Given the description of an element on the screen output the (x, y) to click on. 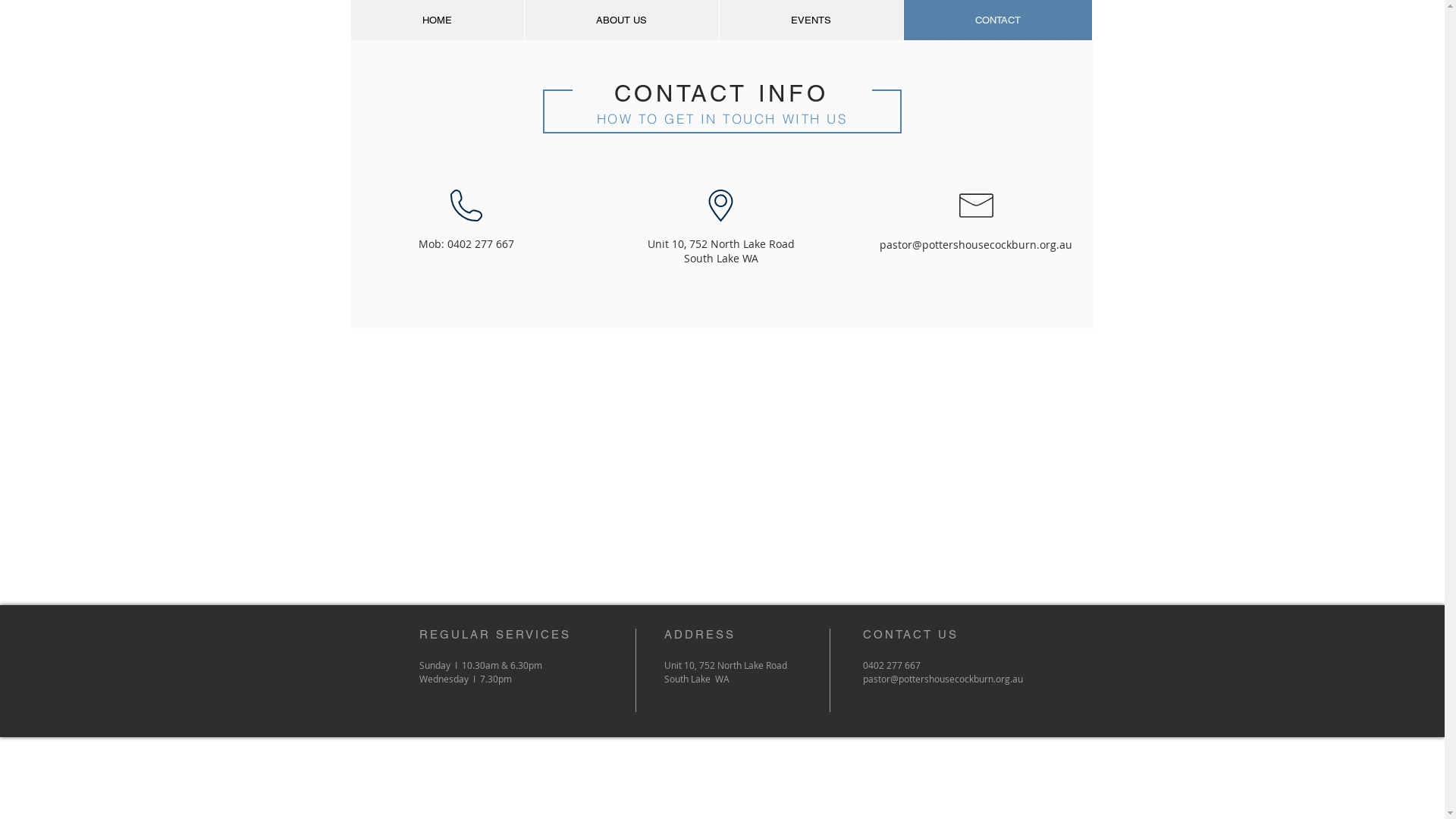
Google Maps Element type: hover (721, 462)
HOME Element type: text (436, 20)
ABOUT US Element type: text (620, 20)
CONTACT Element type: text (996, 20)
EVENTS Element type: text (810, 20)
pastor@pottershousecockburn.org.au Element type: text (942, 678)
pastor@pottershousecockburn.org.au Element type: text (975, 244)
